Given the description of an element on the screen output the (x, y) to click on. 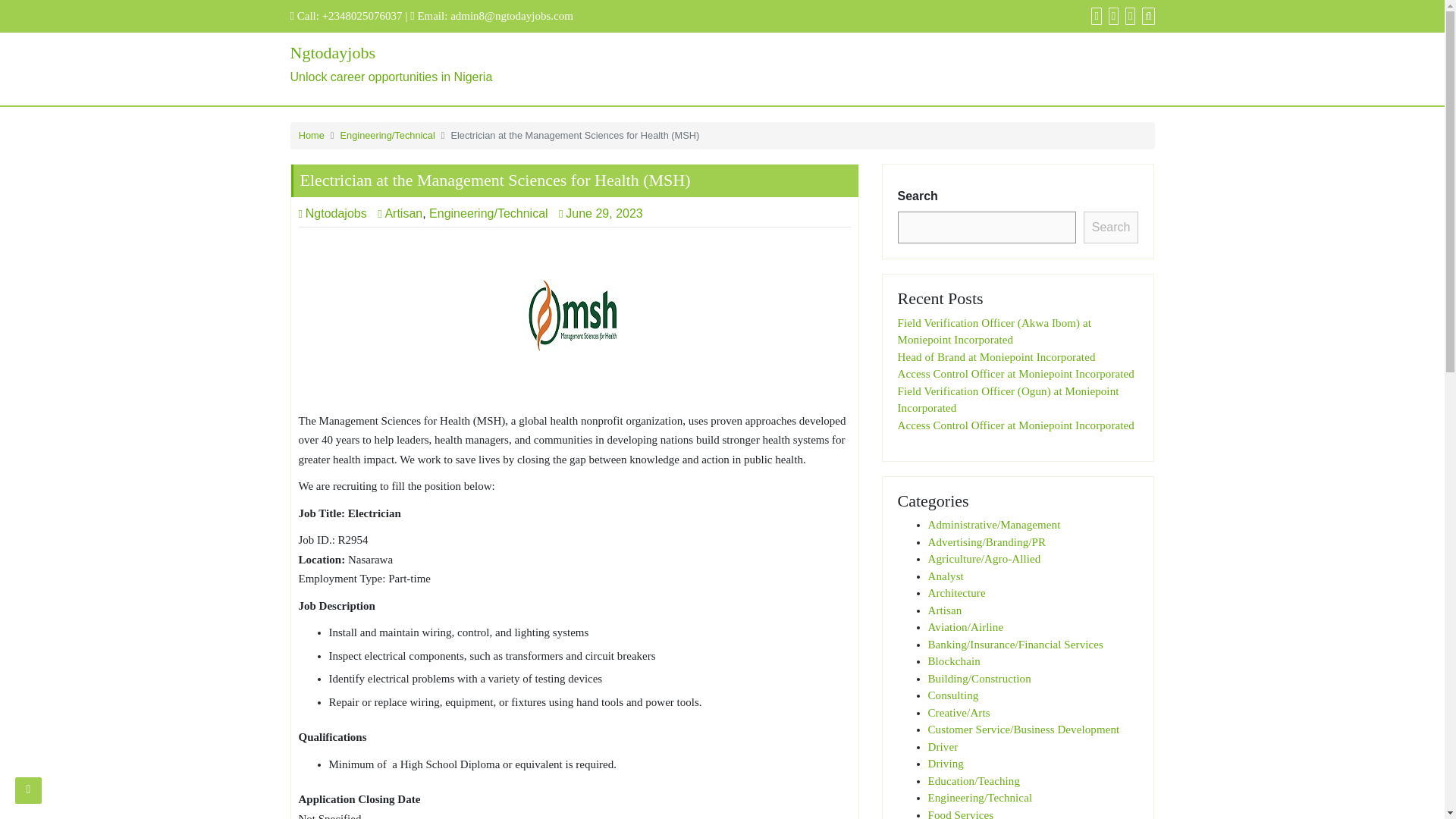
Twitter (1111, 15)
Search (1146, 15)
Artisan (399, 213)
June 29, 2023 (604, 213)
Search (1110, 227)
Home (311, 134)
Access Control Officer at Moniepoint Incorporated (1016, 373)
Access Control Officer at Moniepoint Incorporated (425, 65)
Blockchain (1016, 425)
YouTube (953, 661)
Artisan (1128, 15)
Facebook (945, 610)
Consulting (1093, 15)
Head of Brand at Moniepoint Incorporated (953, 695)
